Given the description of an element on the screen output the (x, y) to click on. 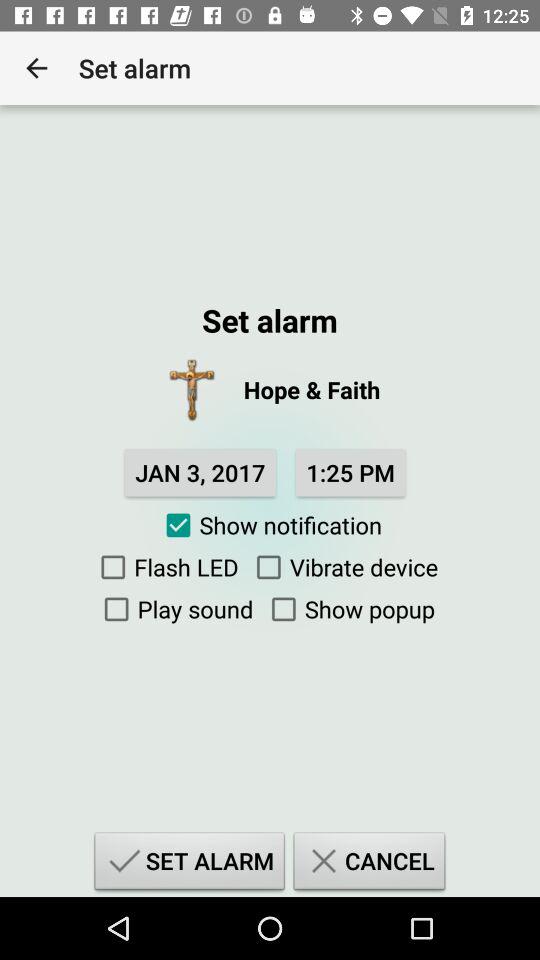
launch icon to the right of set alarm icon (369, 863)
